Given the description of an element on the screen output the (x, y) to click on. 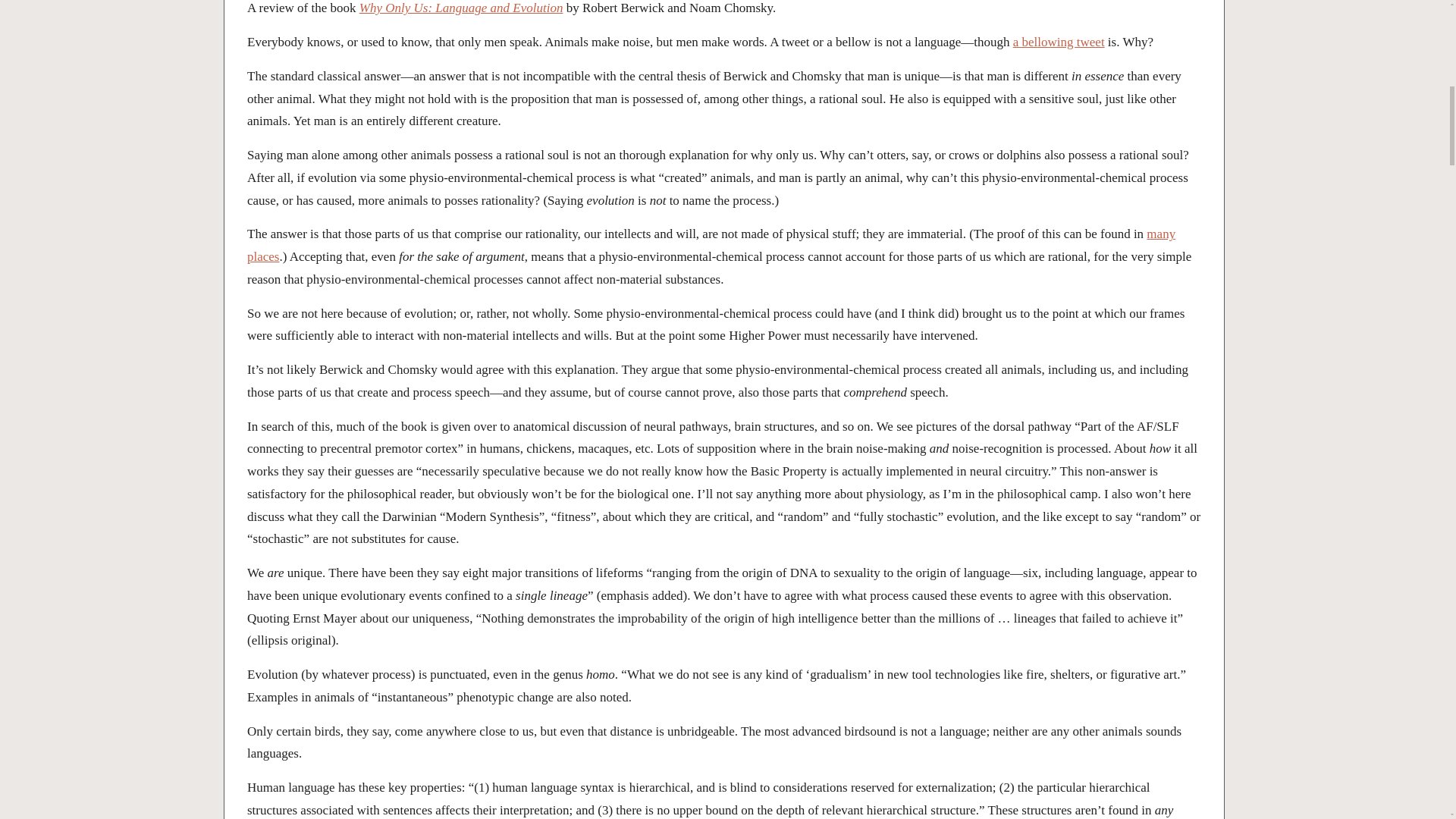
many places (710, 244)
a bellowing tweet (1059, 42)
Why Only Us: Language and Evolution (461, 7)
